Given the description of an element on the screen output the (x, y) to click on. 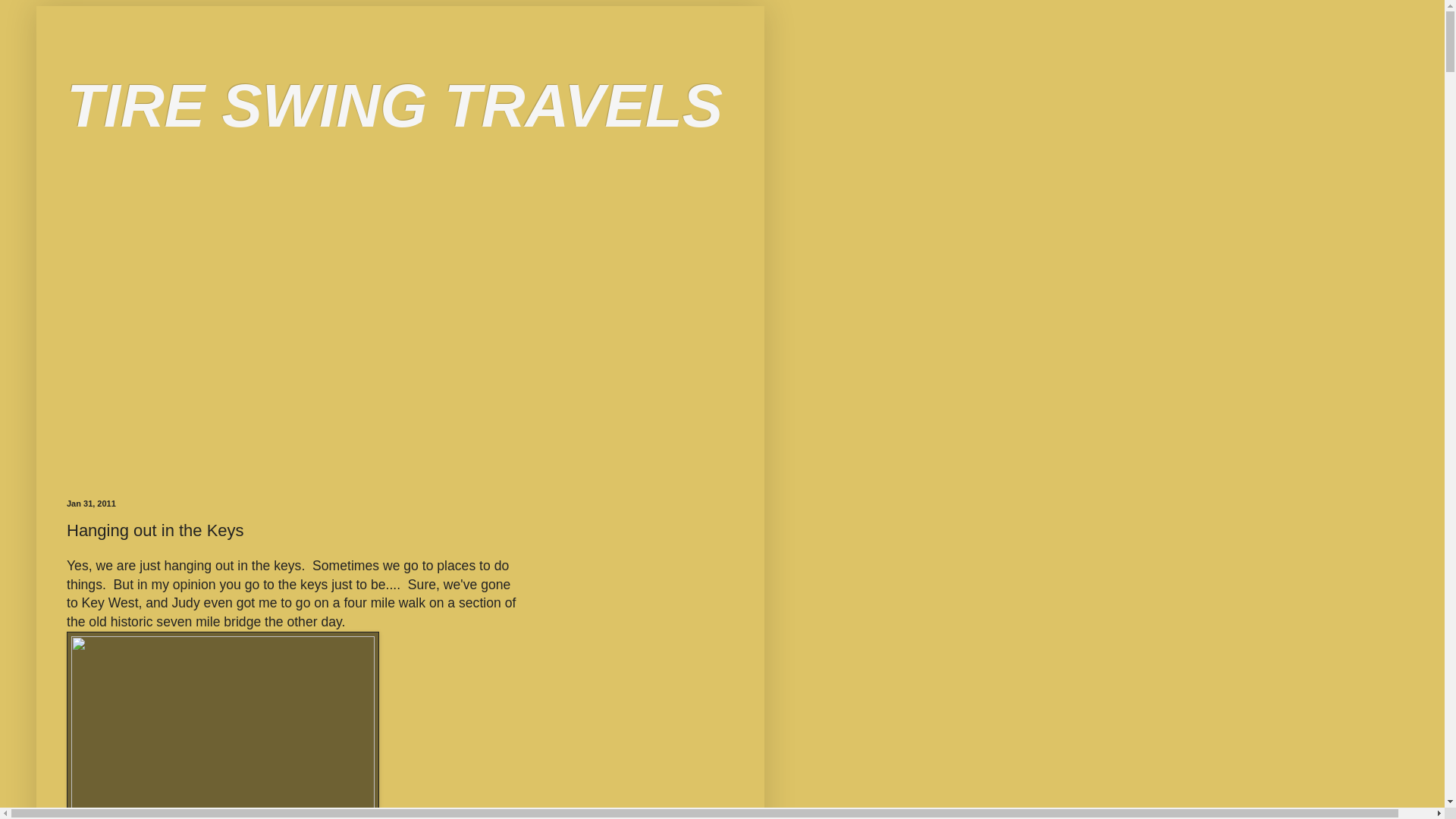
TIRE SWING TRAVELS (394, 105)
